Given the description of an element on the screen output the (x, y) to click on. 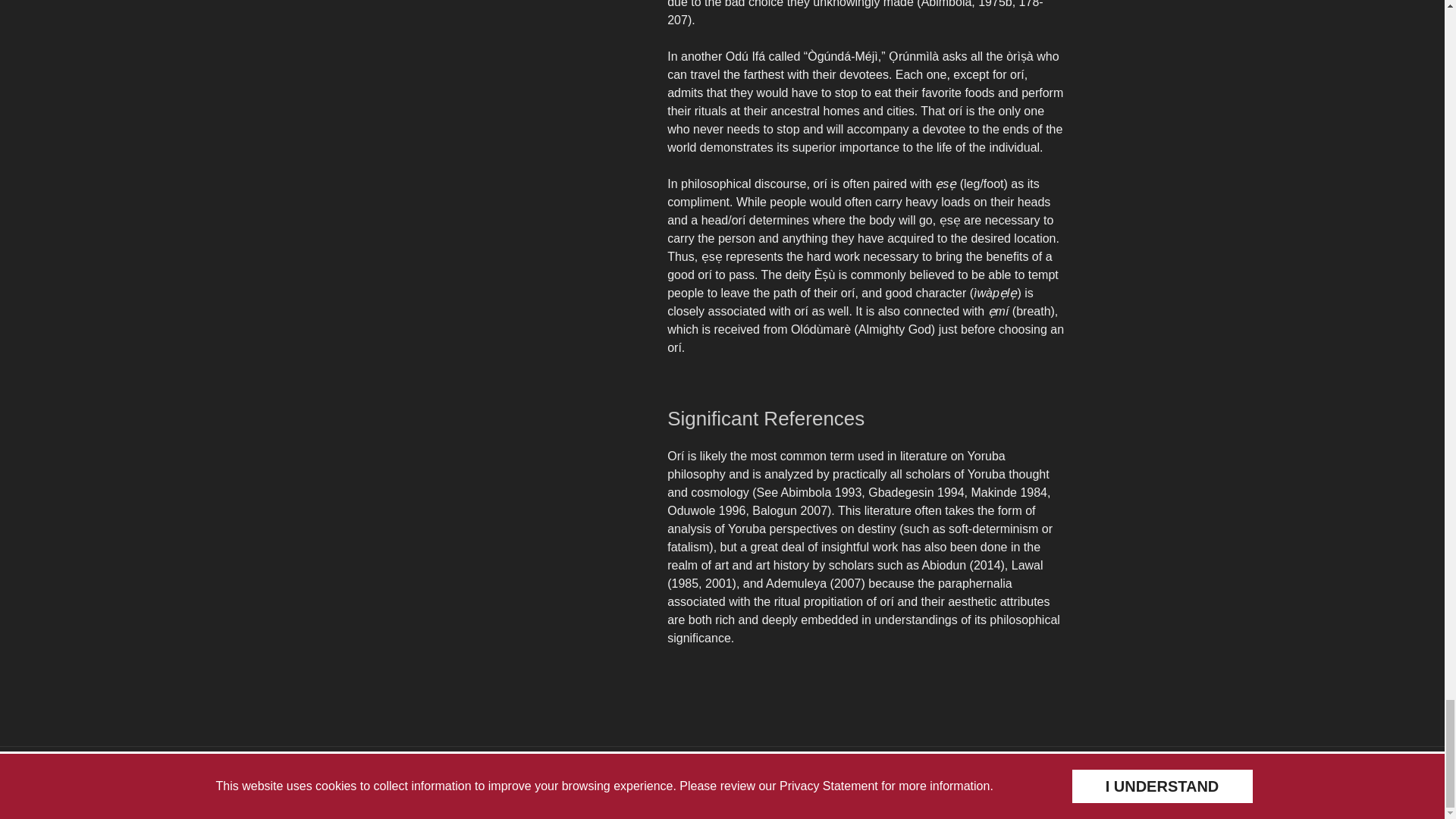
Proudly powered by WordPress (449, 784)
